Given the description of an element on the screen output the (x, y) to click on. 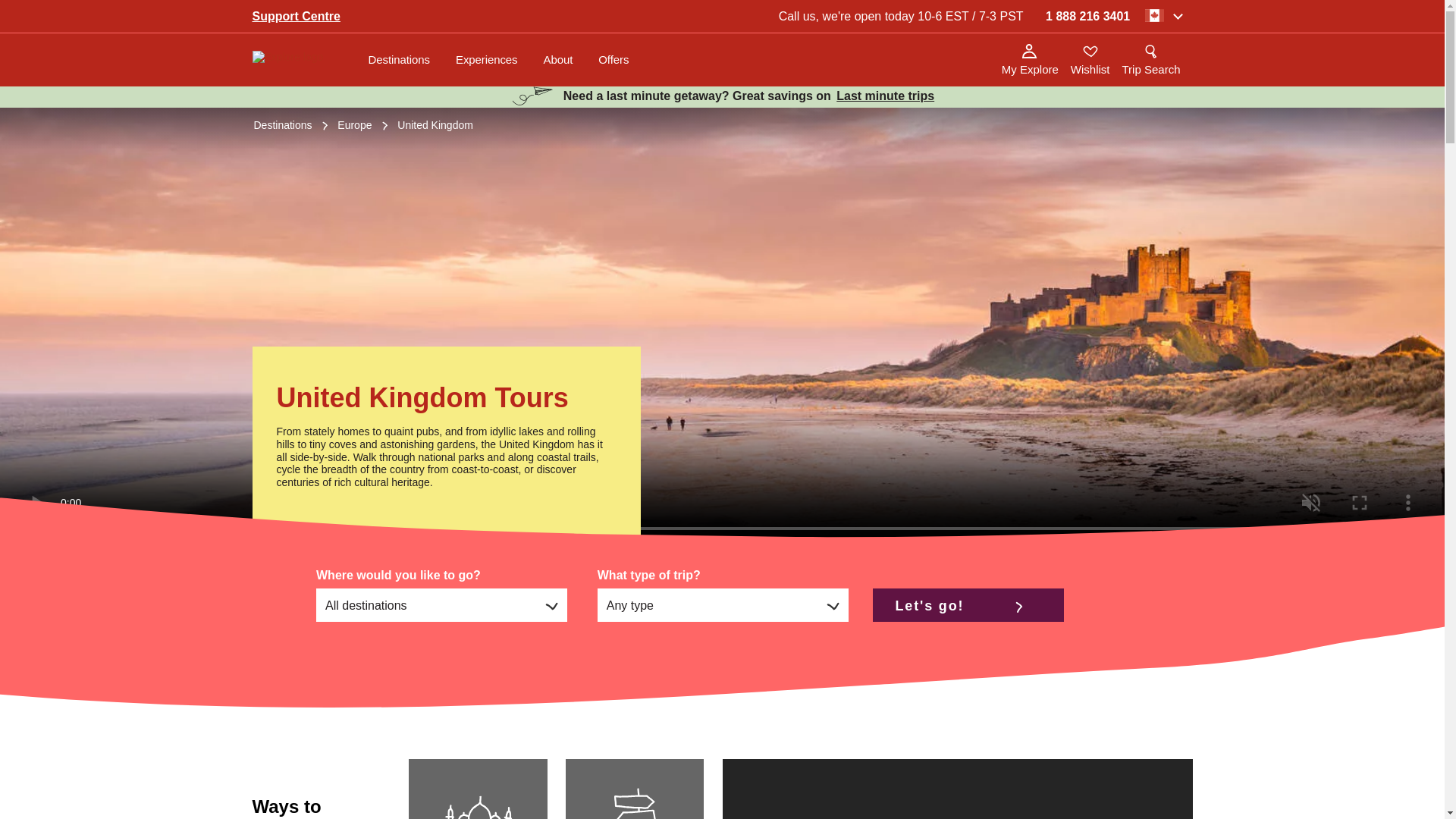
Destinations (398, 59)
1 888 216 3401 (1087, 15)
Support Centre (295, 15)
Explore (297, 59)
